Given the description of an element on the screen output the (x, y) to click on. 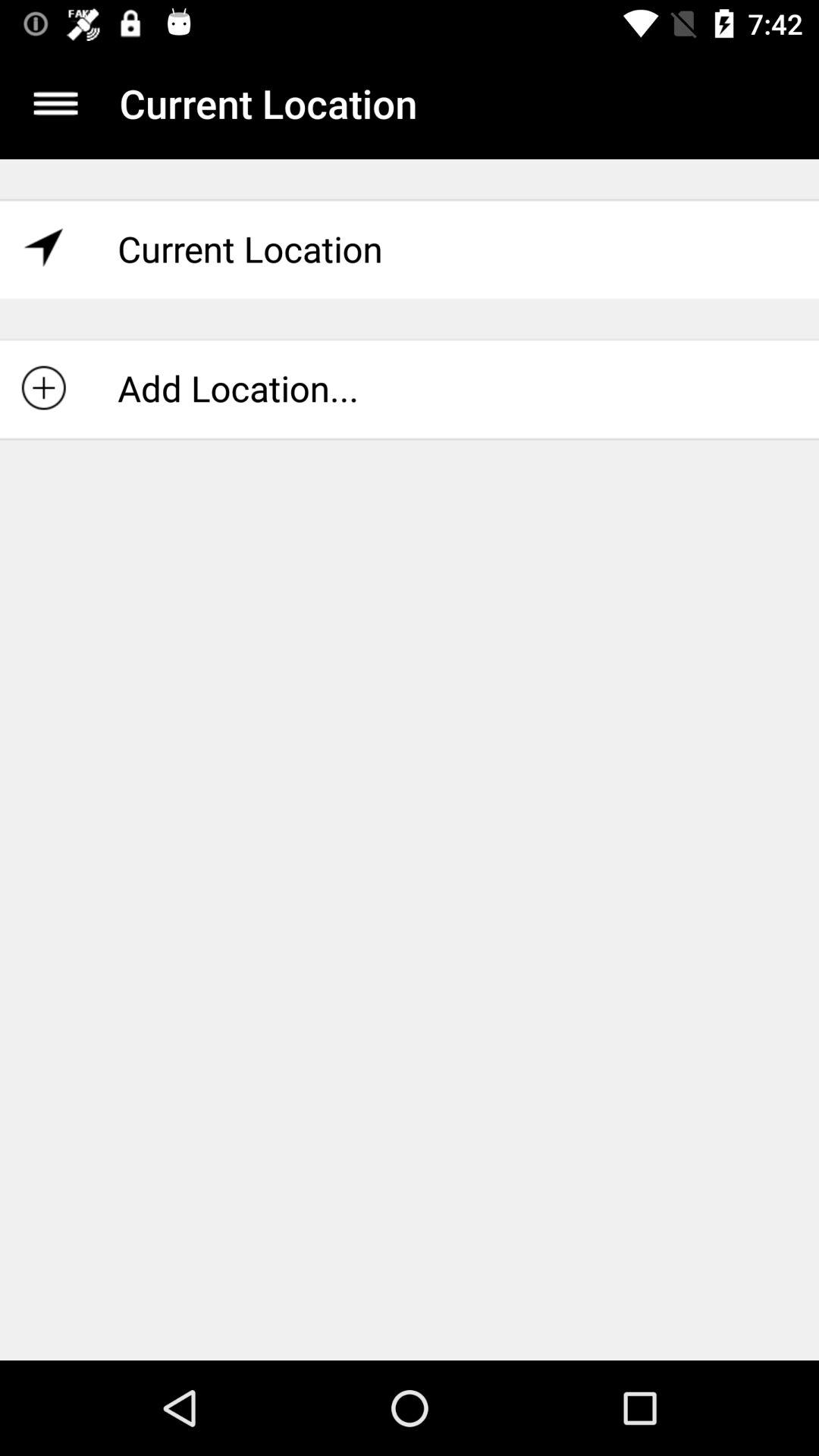
display menu (55, 103)
